Given the description of an element on the screen output the (x, y) to click on. 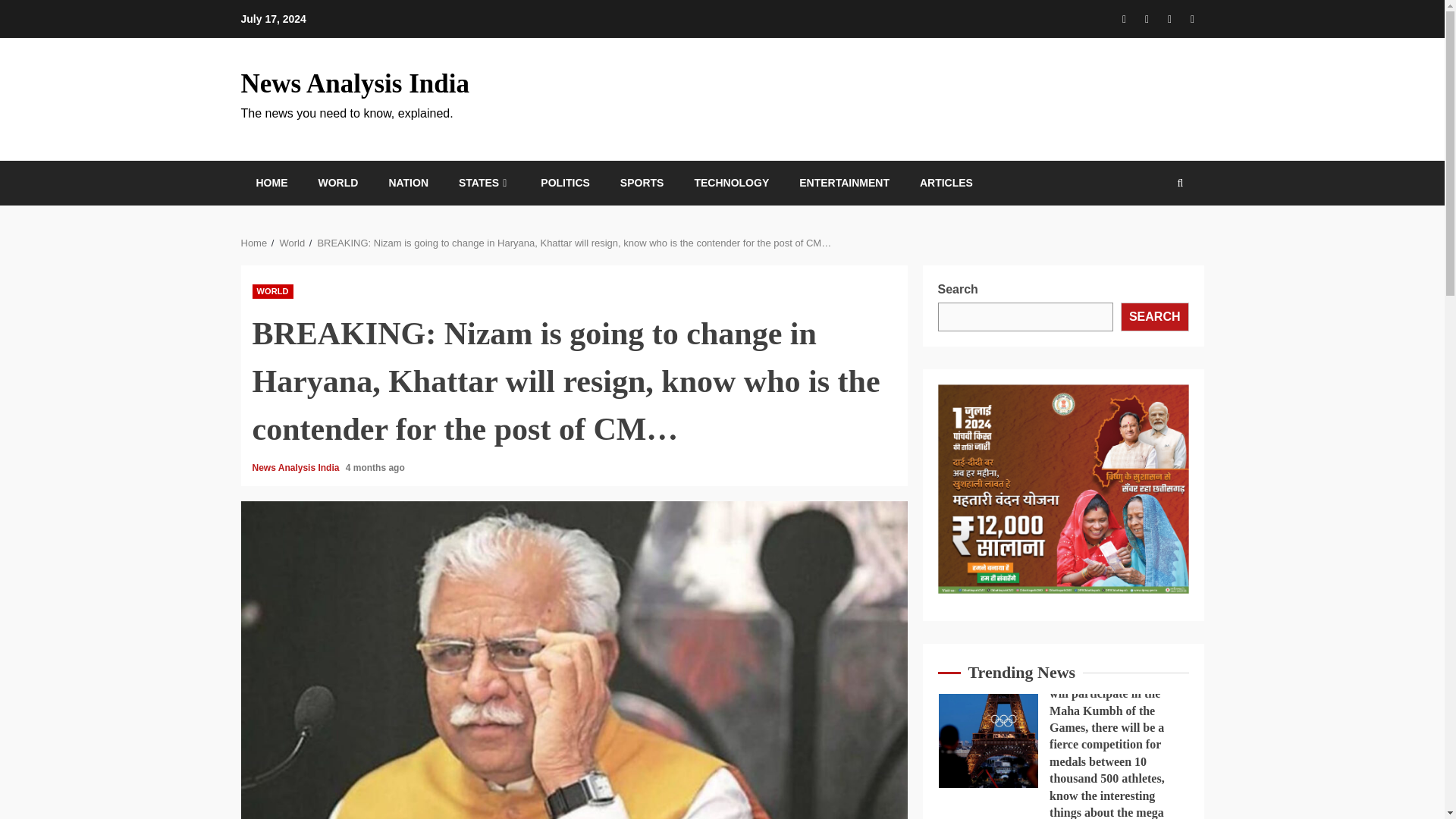
WORLD (338, 183)
Home (254, 242)
News Analysis India (354, 83)
SPORTS (641, 183)
Instagram (1146, 18)
YouTube (1169, 18)
Search (1157, 239)
ENTERTAINMENT (844, 183)
News Analysis India (295, 467)
Facebook (1124, 18)
Twitter (1192, 18)
NATION (408, 183)
STATES (484, 183)
TECHNOLOGY (731, 183)
POLITICS (564, 183)
